Given the description of an element on the screen output the (x, y) to click on. 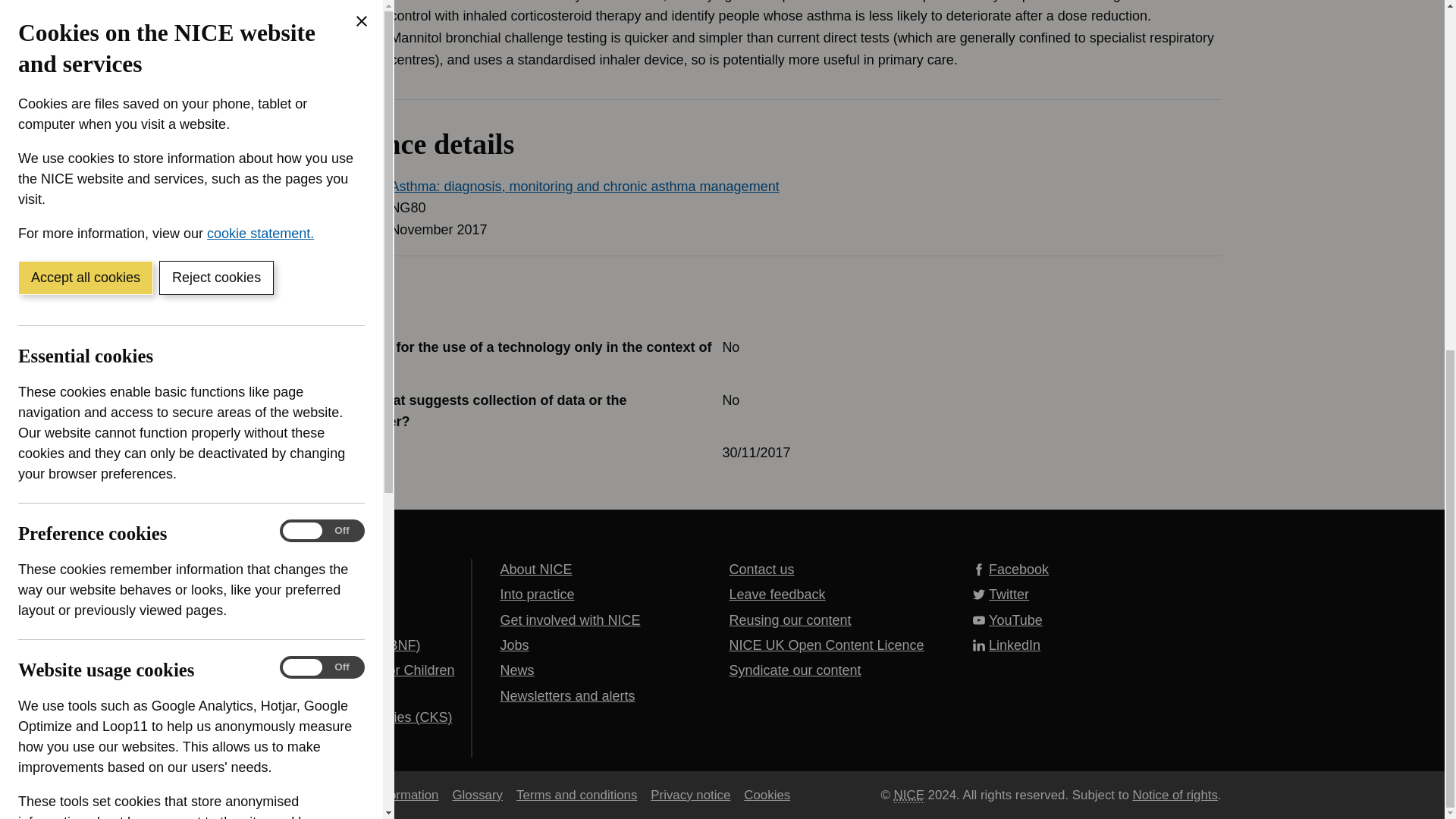
National Institute for Health and Care Excellence (908, 795)
Show vendors within this category (130, 617)
Show vendors within this category (130, 274)
